Given the description of an element on the screen output the (x, y) to click on. 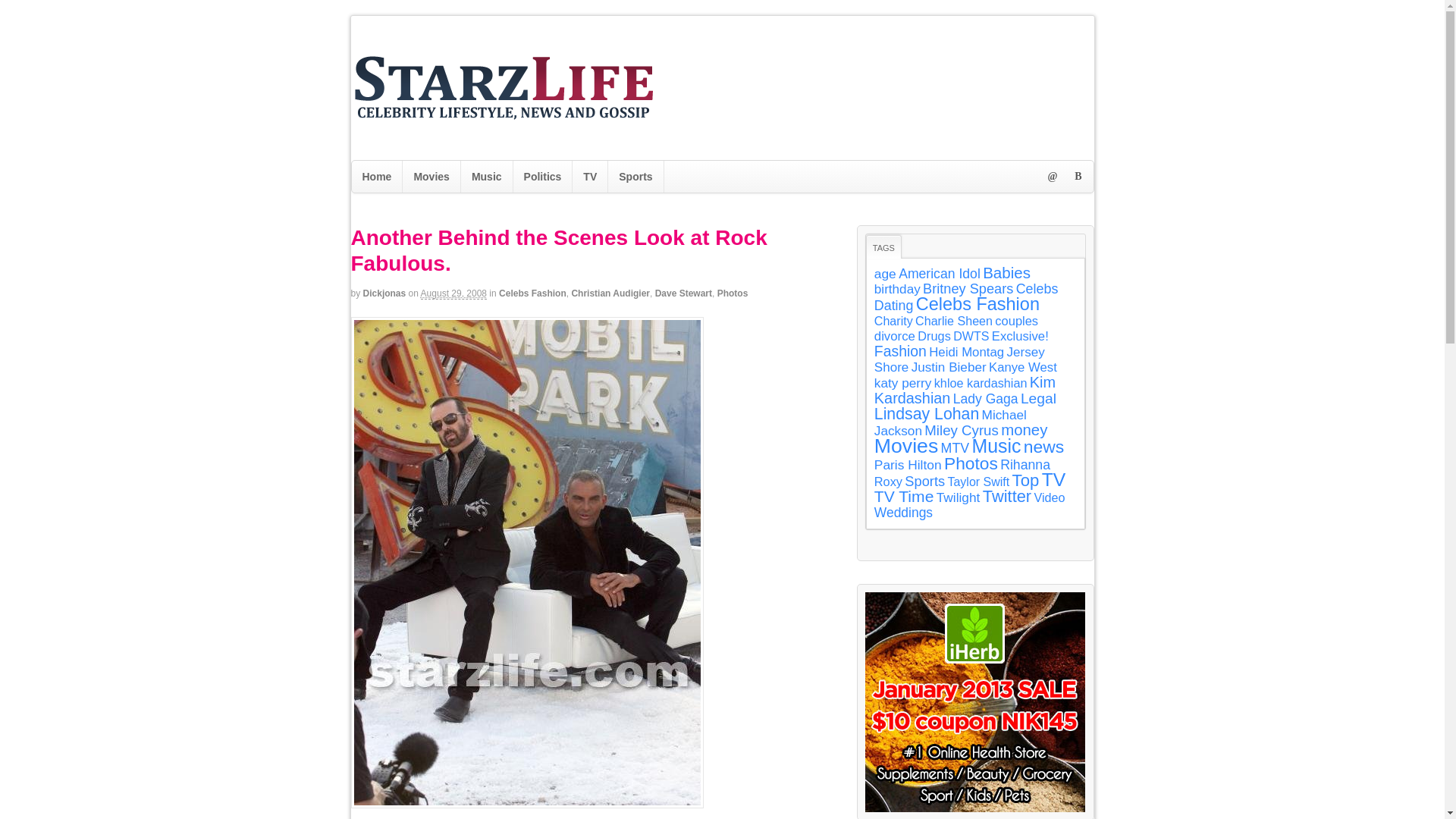
Movies (431, 176)
TAGS (883, 246)
birthday (897, 288)
2008-08-29T15:34:18-0700 (453, 293)
Photos (732, 293)
TV (589, 176)
Babies (1006, 272)
Dave Stewart (683, 293)
Politics (542, 176)
Music (486, 176)
